Given the description of an element on the screen output the (x, y) to click on. 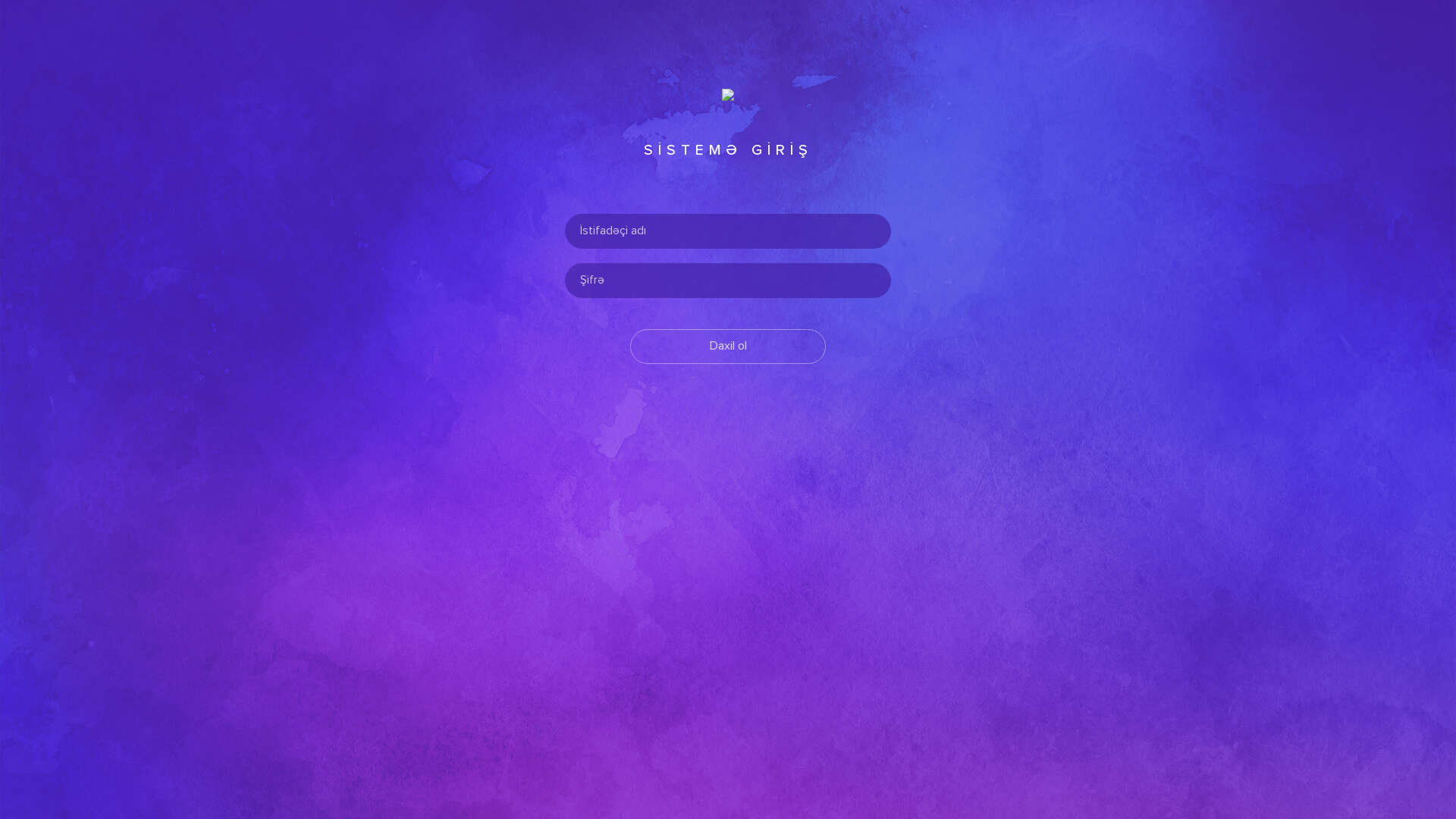
Daxil ol Element type: text (727, 346)
